Given the description of an element on the screen output the (x, y) to click on. 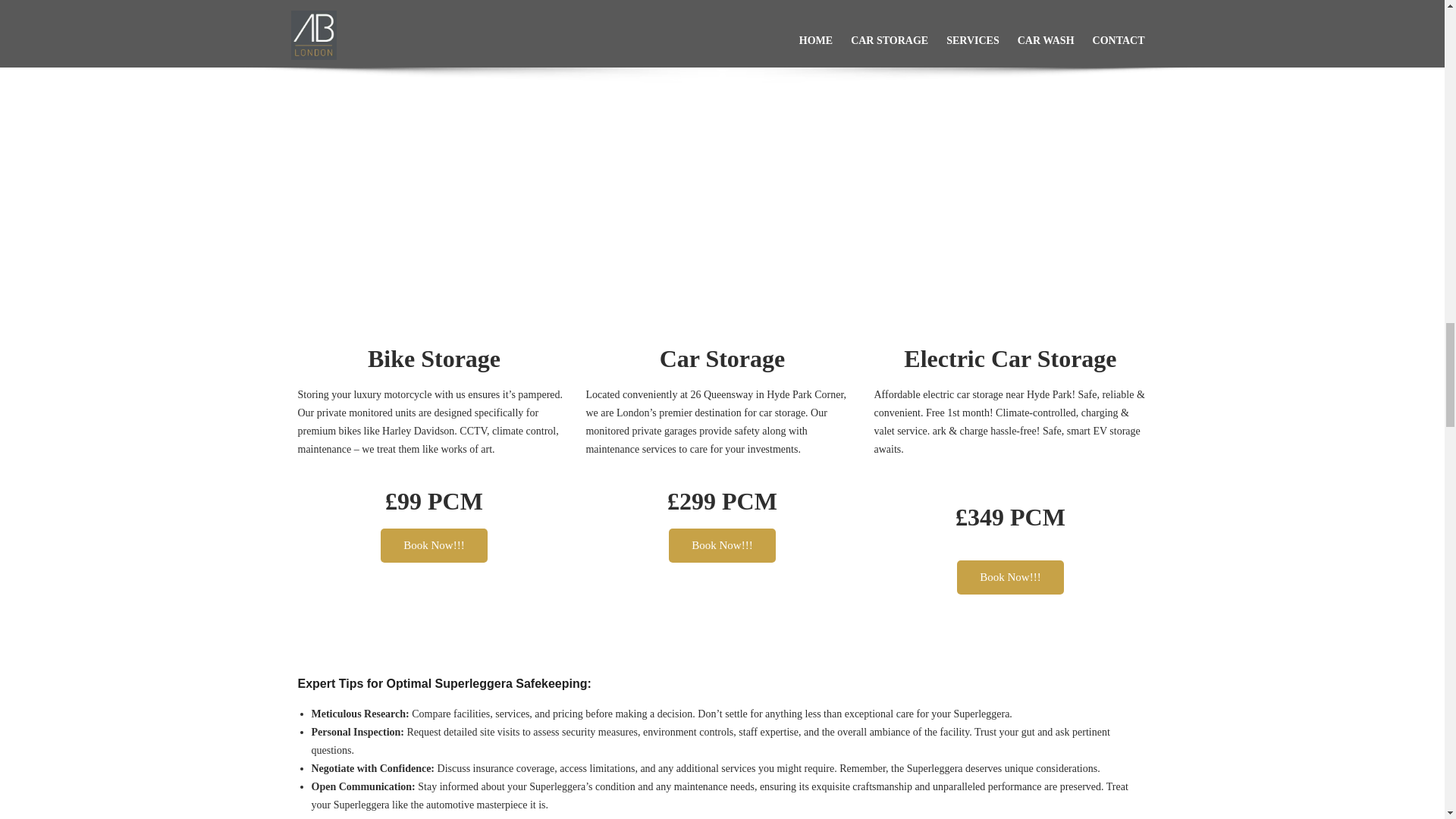
Book Now!!! (433, 545)
Book Now!!! (1009, 577)
Book Now!!! (721, 545)
